Given the description of an element on the screen output the (x, y) to click on. 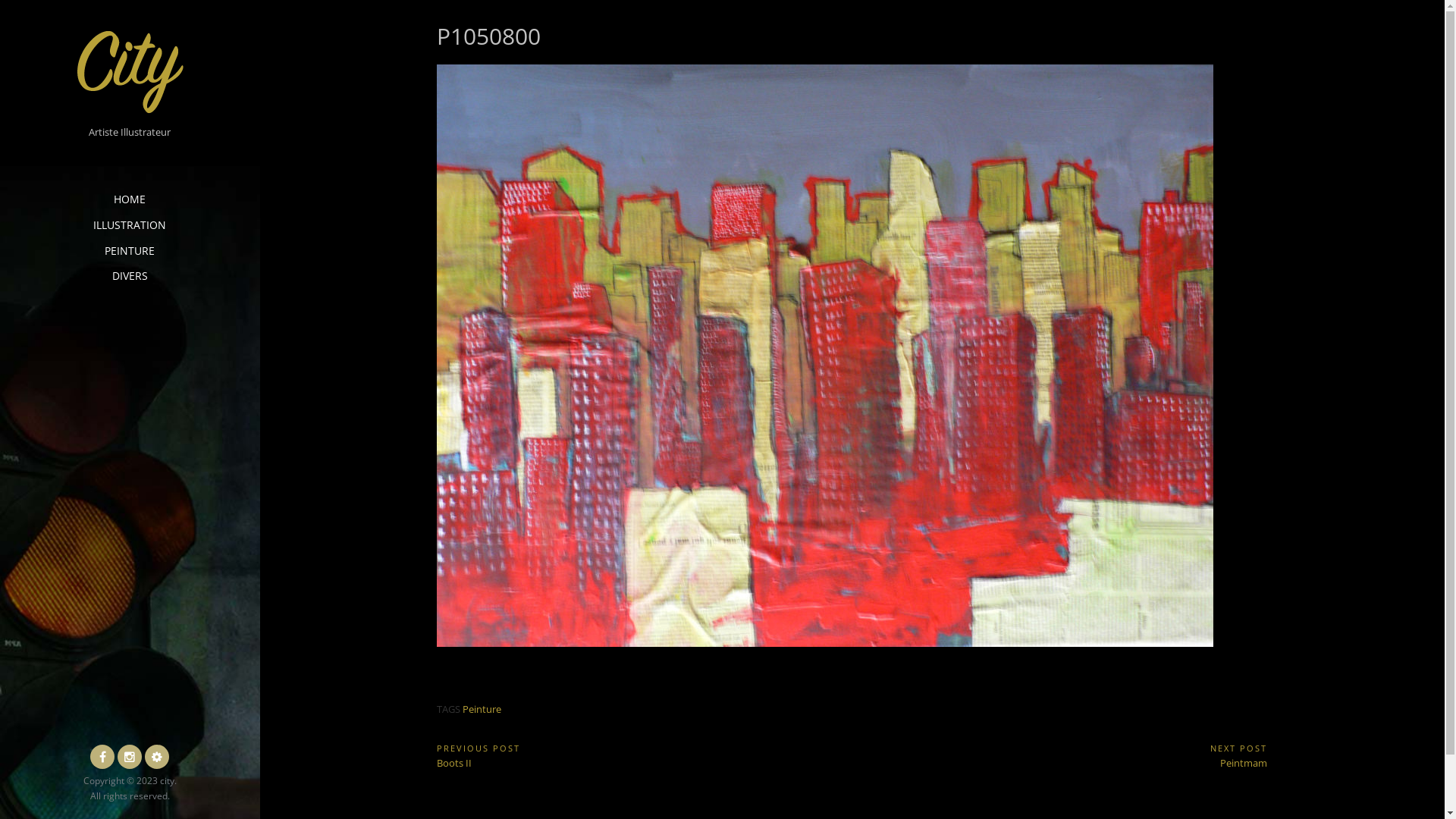
PEINTURE Element type: text (129, 250)
PREVIOUS POST
Previous Post:
Boots II Element type: text (643, 755)
DIVERS Element type: text (129, 275)
Peinture Element type: text (481, 708)
facebook Element type: text (102, 756)
Instagram Element type: text (129, 756)
PBK9 Element type: text (156, 756)
NEXT POST
Next Post:
Peintmam Element type: text (1059, 755)
HOME Element type: text (129, 199)
ILLUSTRATION Element type: text (129, 225)
